Given the description of an element on the screen output the (x, y) to click on. 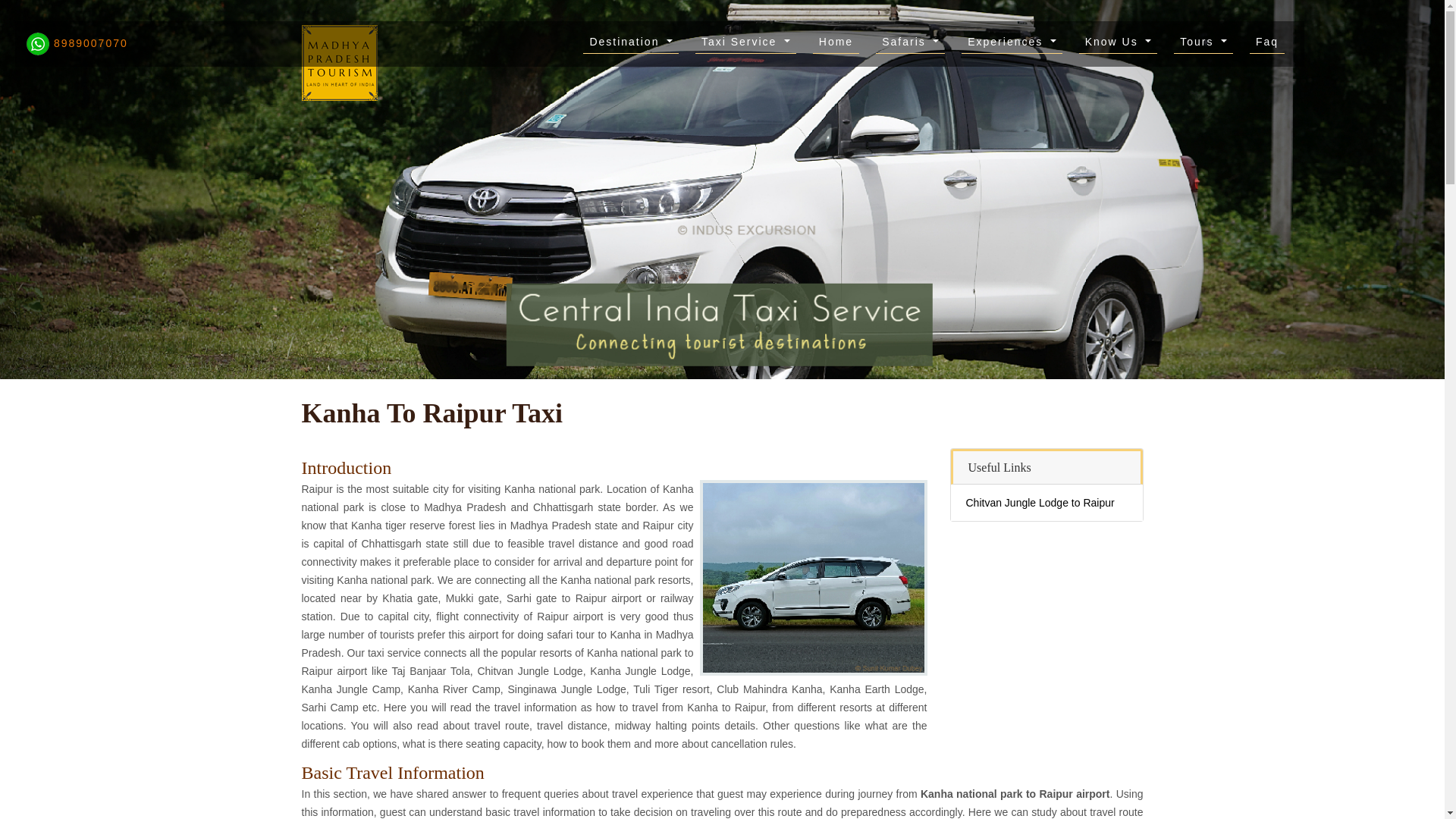
 8989007070 (77, 42)
Destination (630, 43)
Destination (630, 43)
